Given the description of an element on the screen output the (x, y) to click on. 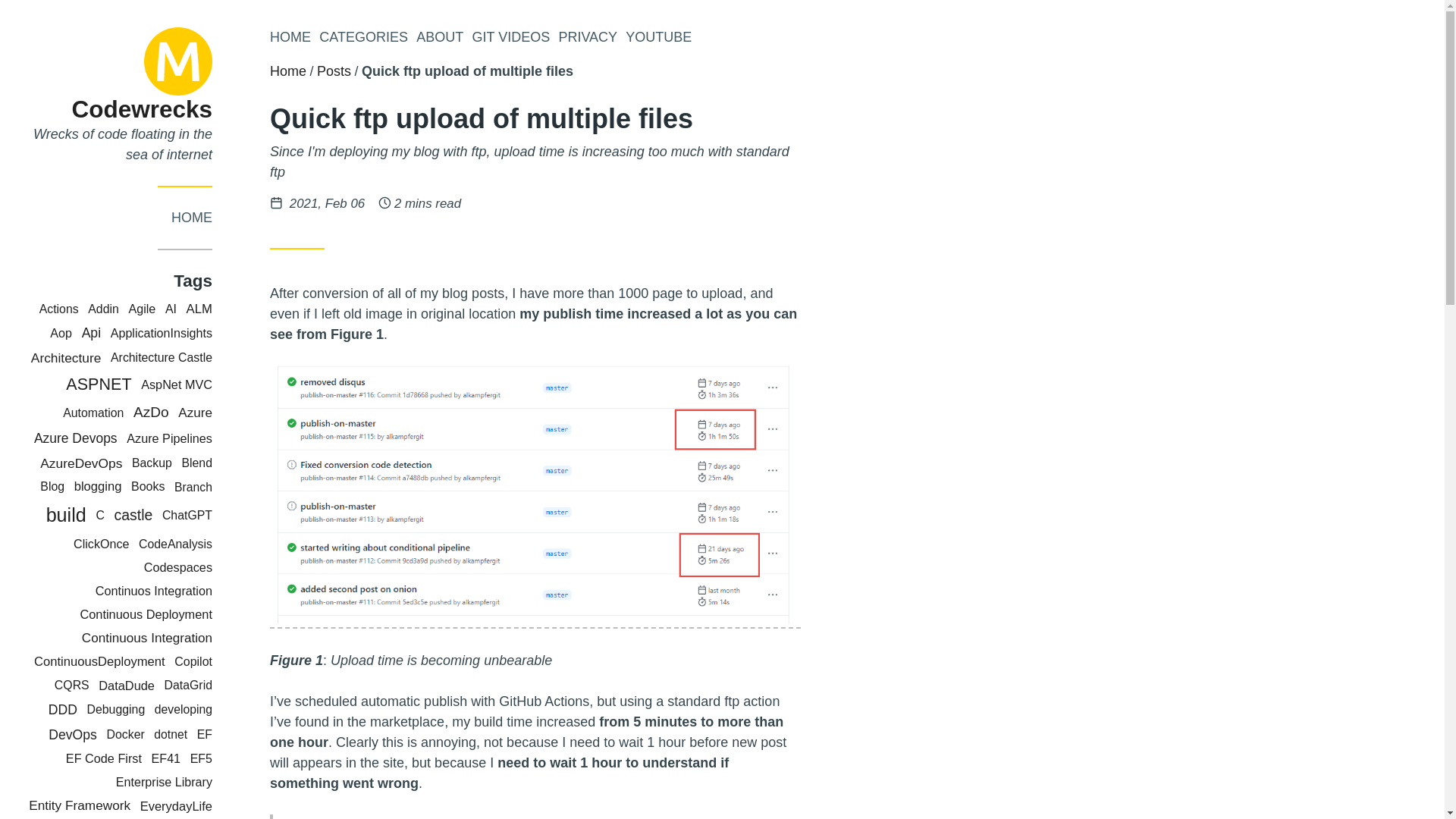
Continuos Integration (154, 590)
Aop (60, 332)
Blend (196, 462)
Branch (193, 486)
Continuous Integration (146, 637)
Addin (103, 308)
AspNet MVC (176, 384)
Architecture Castle (161, 357)
Blog (52, 486)
Books (147, 486)
Actions (58, 308)
Copilot (193, 661)
Continuous Deployment (146, 613)
Azure Devops (75, 437)
castle (132, 514)
